Given the description of an element on the screen output the (x, y) to click on. 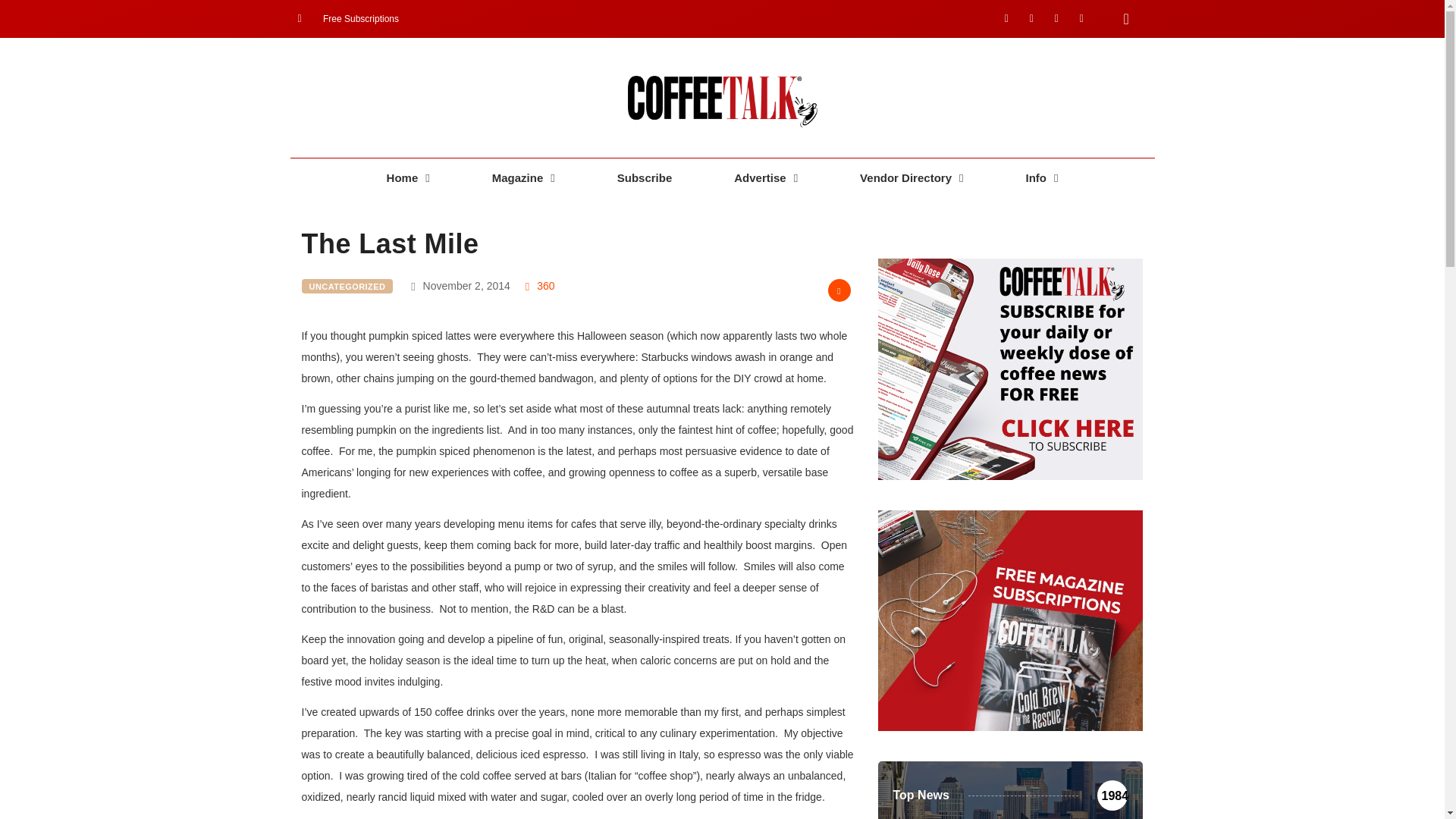
Magazine (523, 178)
Free Subscriptions (347, 18)
Home (408, 178)
